Given the description of an element on the screen output the (x, y) to click on. 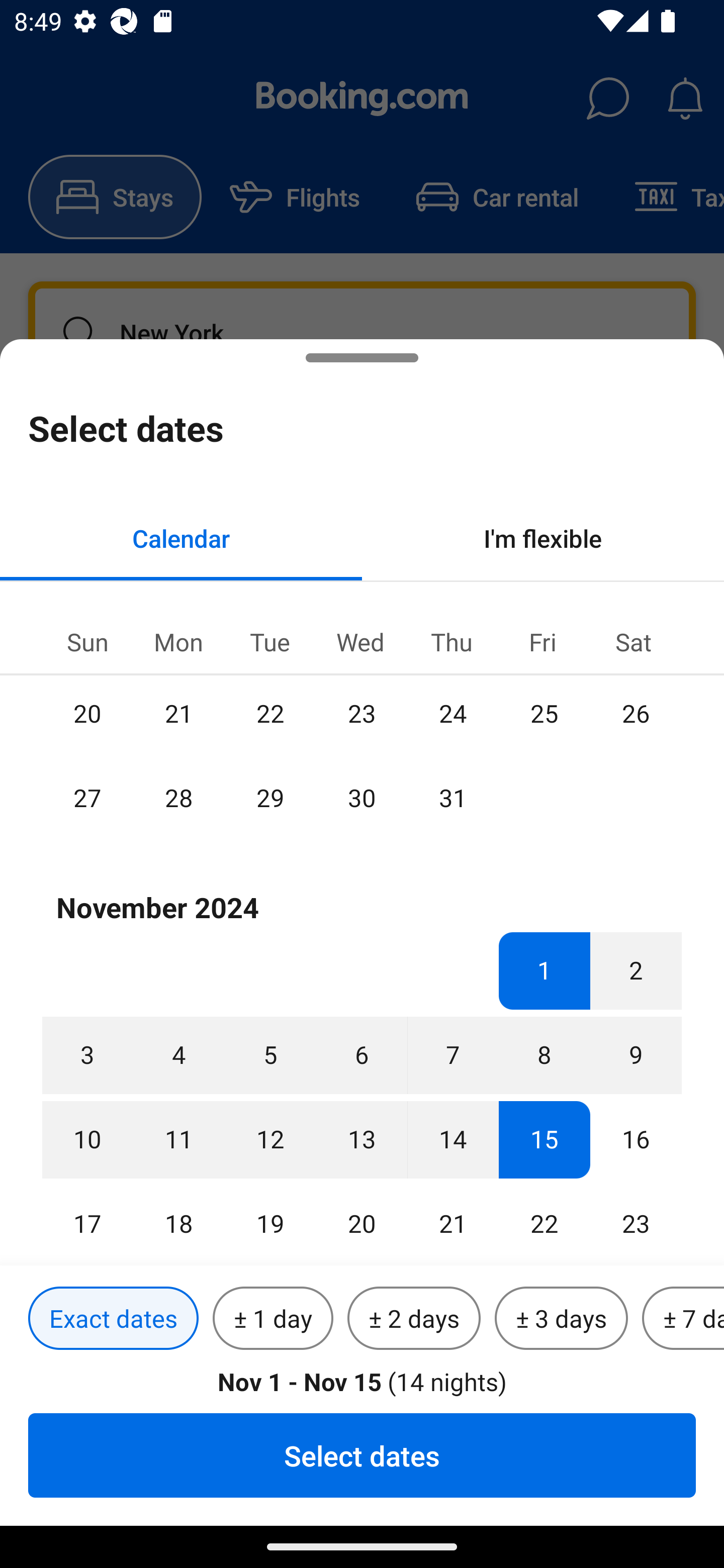
I'm flexible (543, 537)
Exact dates (113, 1318)
± 1 day (272, 1318)
± 2 days (413, 1318)
± 3 days (560, 1318)
± 7 days (683, 1318)
Select dates (361, 1454)
